Given the description of an element on the screen output the (x, y) to click on. 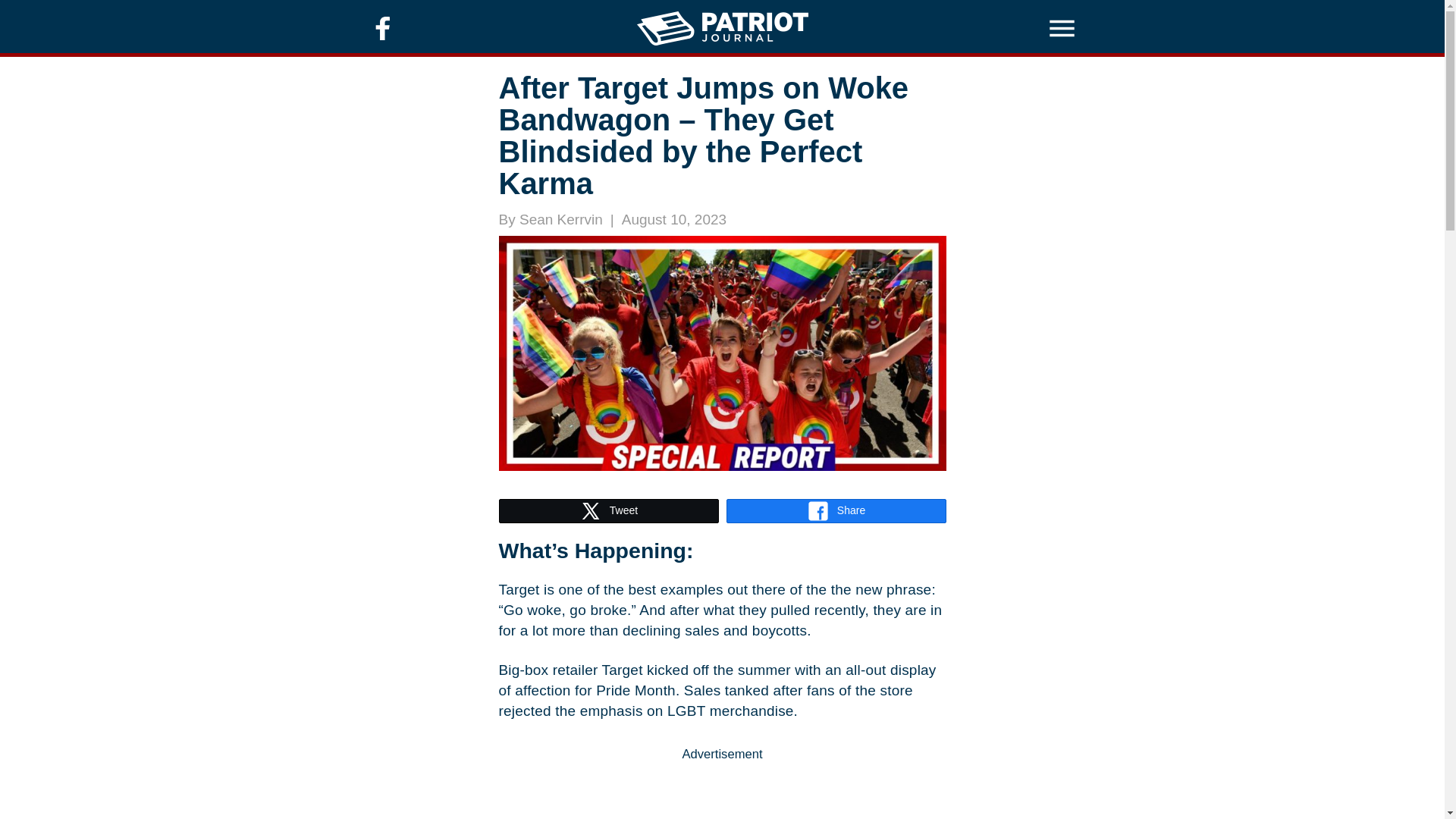
Sean Kerrvin (560, 219)
Share (835, 510)
Tweet (608, 510)
